Given the description of an element on the screen output the (x, y) to click on. 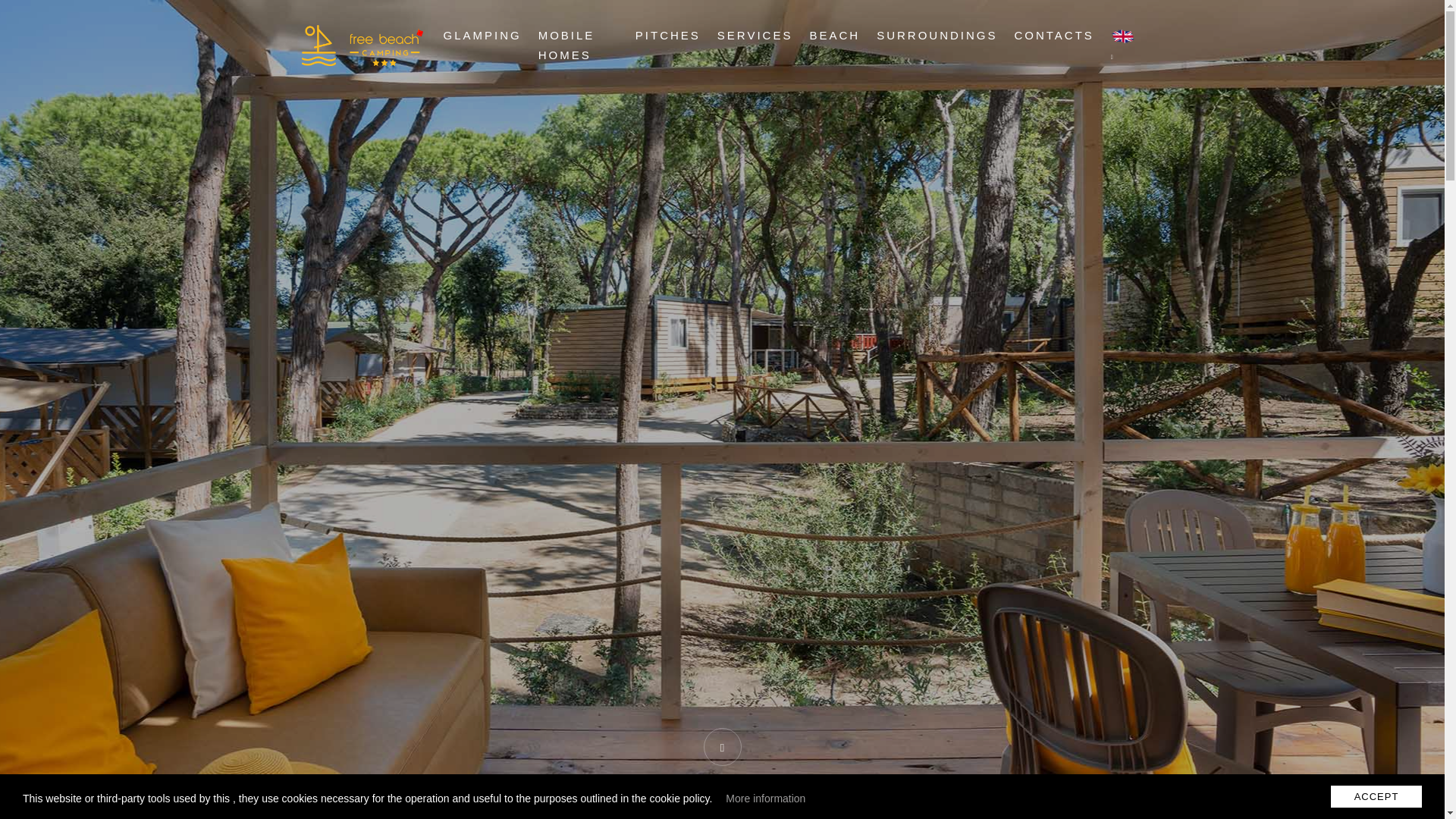
GLAMPING (481, 35)
PITCHES (667, 35)
CONTACTS (1053, 35)
SERVICES (755, 35)
SURROUNDINGS (936, 35)
MOBILE HOMES (578, 45)
